Given the description of an element on the screen output the (x, y) to click on. 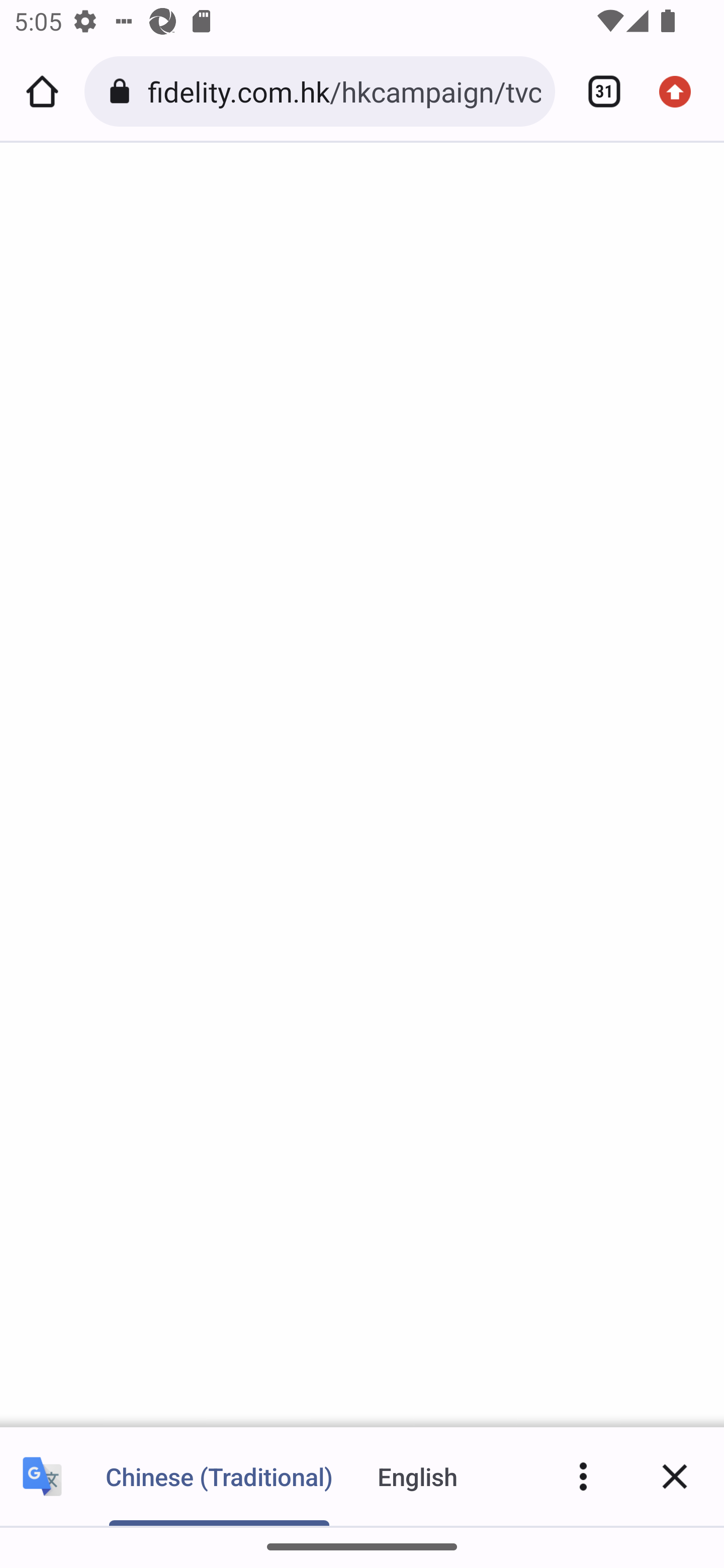
Home (42, 91)
Connection is secure (122, 91)
Switch or close tabs (597, 91)
Update available. More options (681, 91)
English (417, 1475)
More options (582, 1475)
Close (674, 1475)
